Given the description of an element on the screen output the (x, y) to click on. 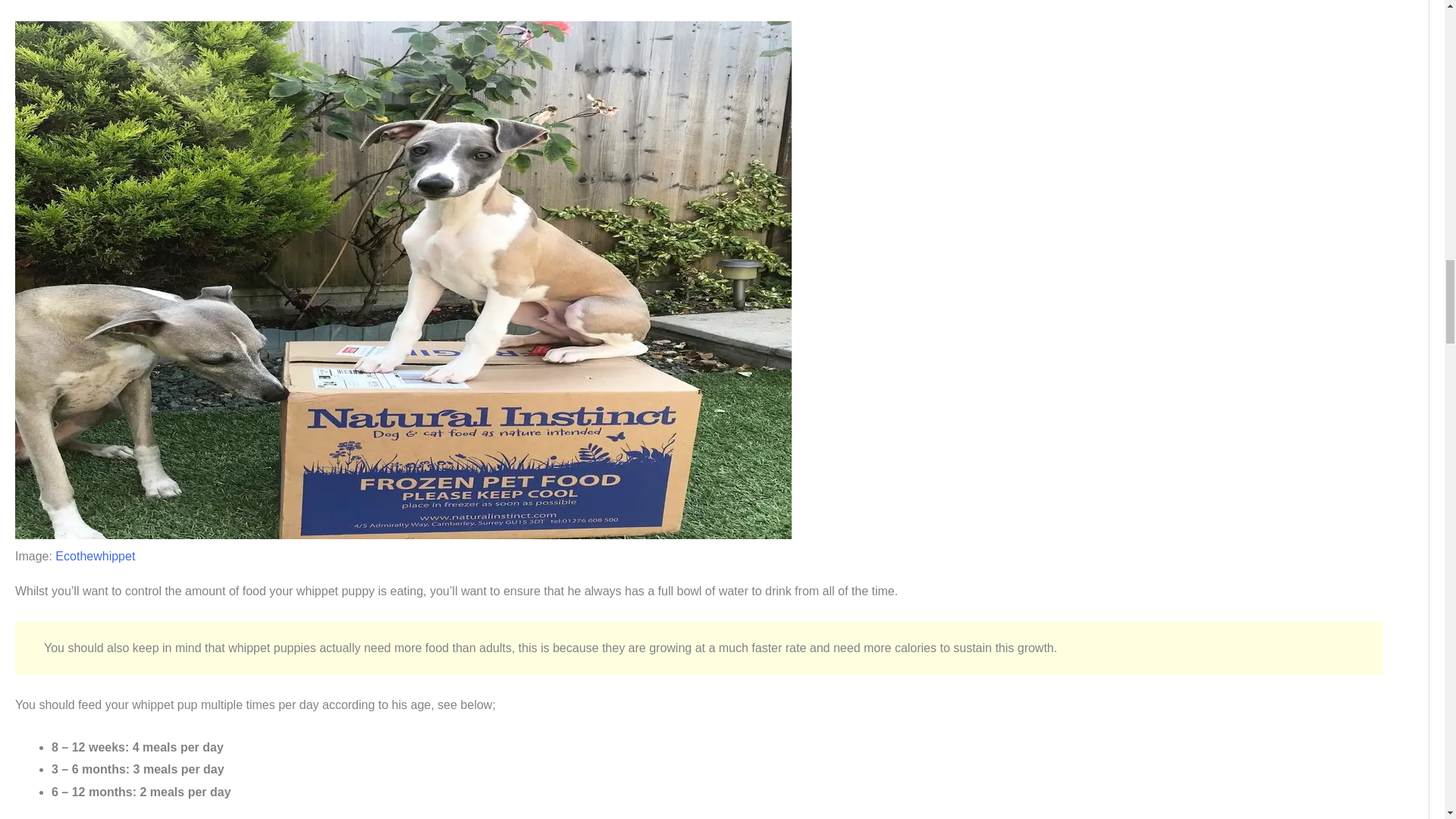
Ecothewhippet (95, 555)
